Given the description of an element on the screen output the (x, y) to click on. 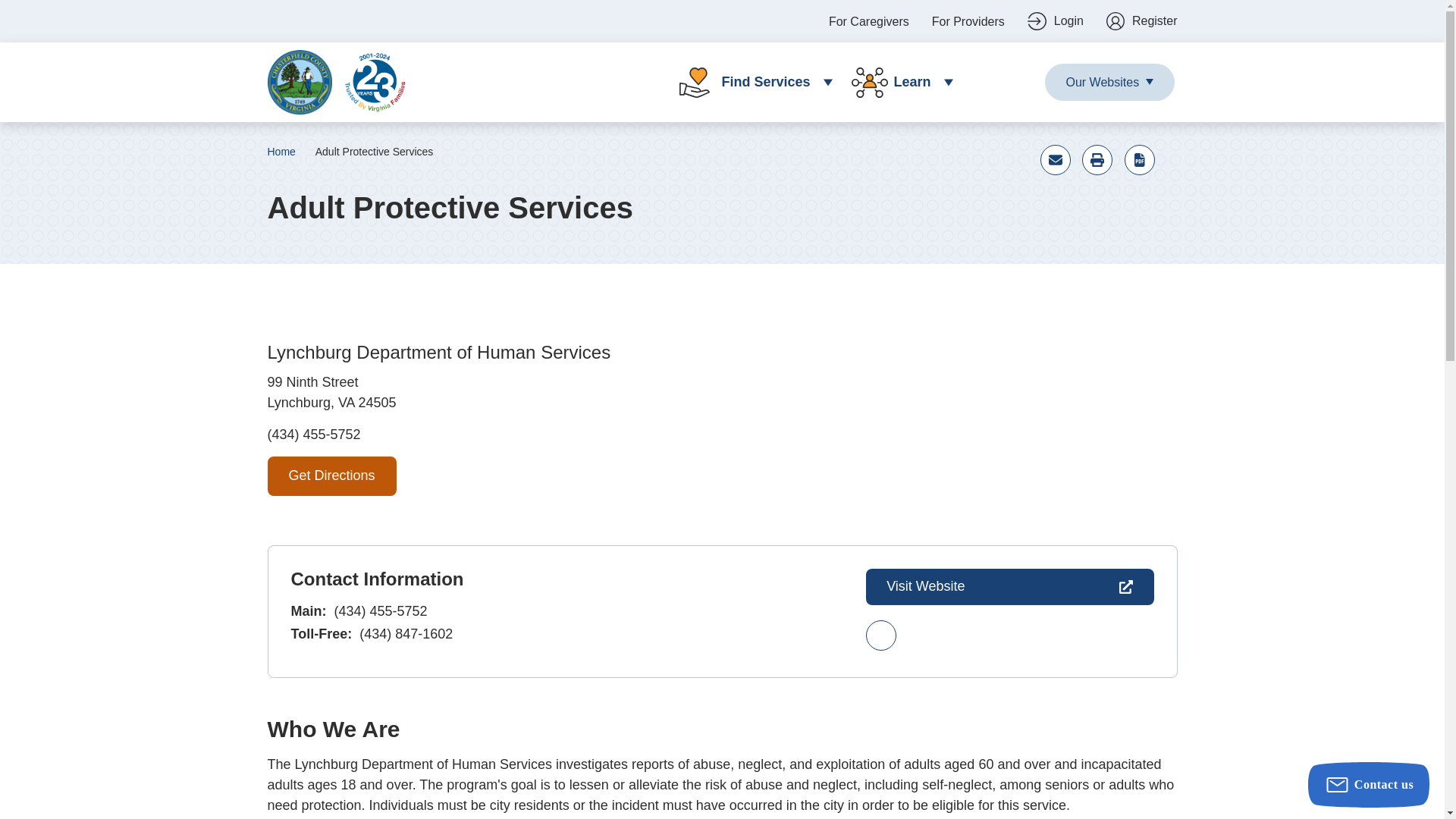
Register (1141, 21)
Find Services (749, 82)
For Providers (967, 21)
Learn (895, 82)
For Caregivers (868, 21)
Login (1055, 21)
icon--register (1141, 21)
